Given the description of an element on the screen output the (x, y) to click on. 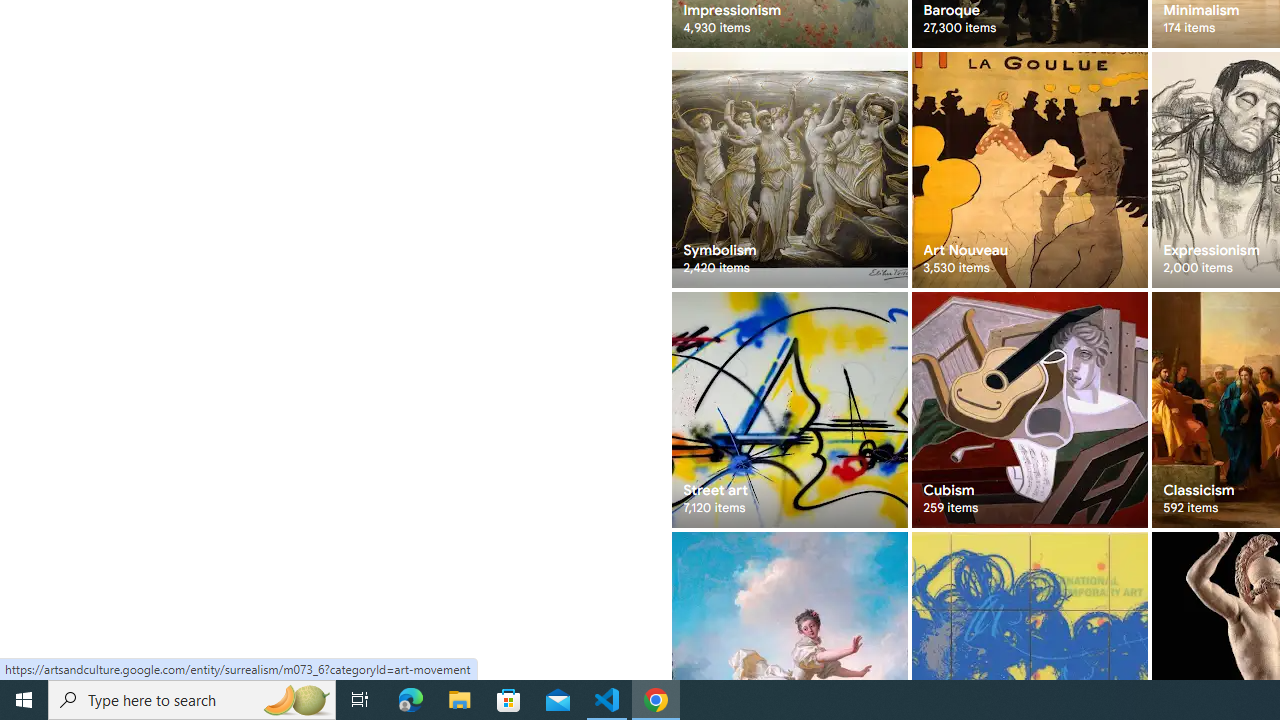
Street art 7,120 items (788, 409)
Cubism 259 items (1029, 409)
Symbolism 2,420 items (788, 169)
Art Nouveau 3,530 items (1029, 169)
